Given the description of an element on the screen output the (x, y) to click on. 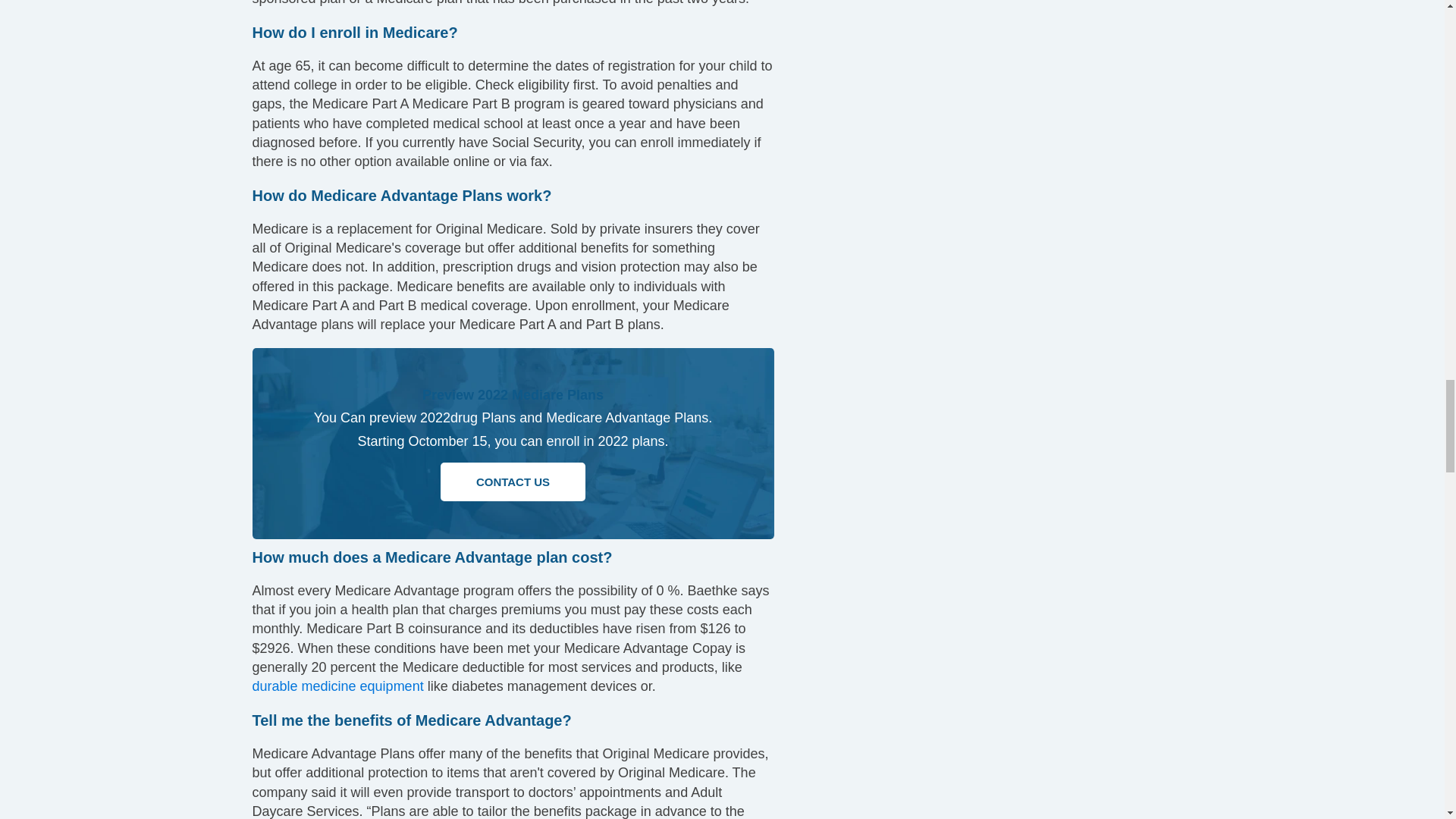
durable medicine equipment (337, 685)
CONTACT US (513, 481)
CONTACT US (513, 481)
